Given the description of an element on the screen output the (x, y) to click on. 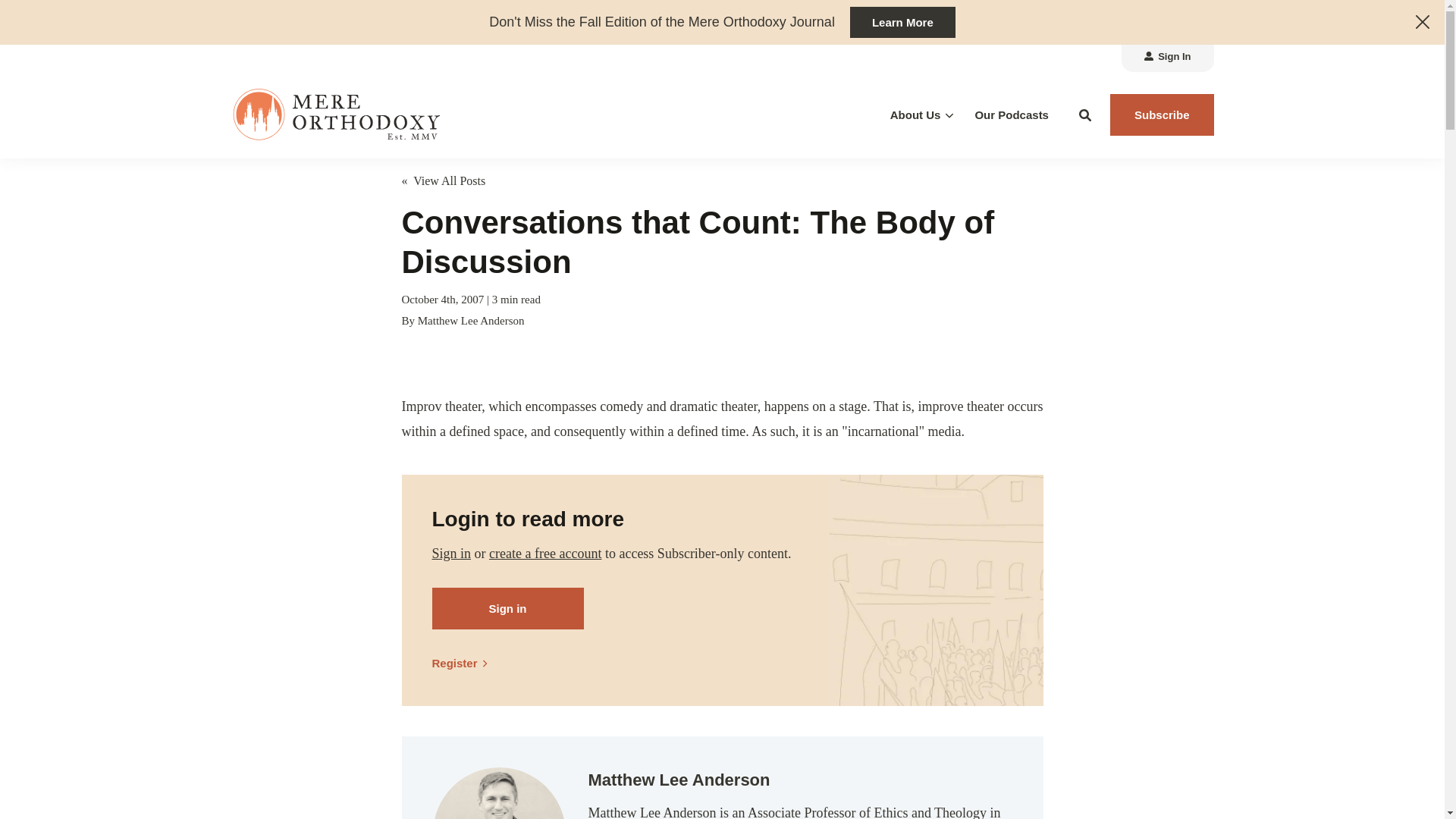
Our Podcasts (1010, 114)
Sign in (507, 608)
Matthew Lee Anderson (470, 320)
Learn More (902, 21)
Open Search (1085, 114)
Matthew Lee Anderson (498, 793)
Register (465, 663)
Sign in (451, 553)
Matthew Lee Anderson (470, 320)
Subscribe (1161, 114)
